Given the description of an element on the screen output the (x, y) to click on. 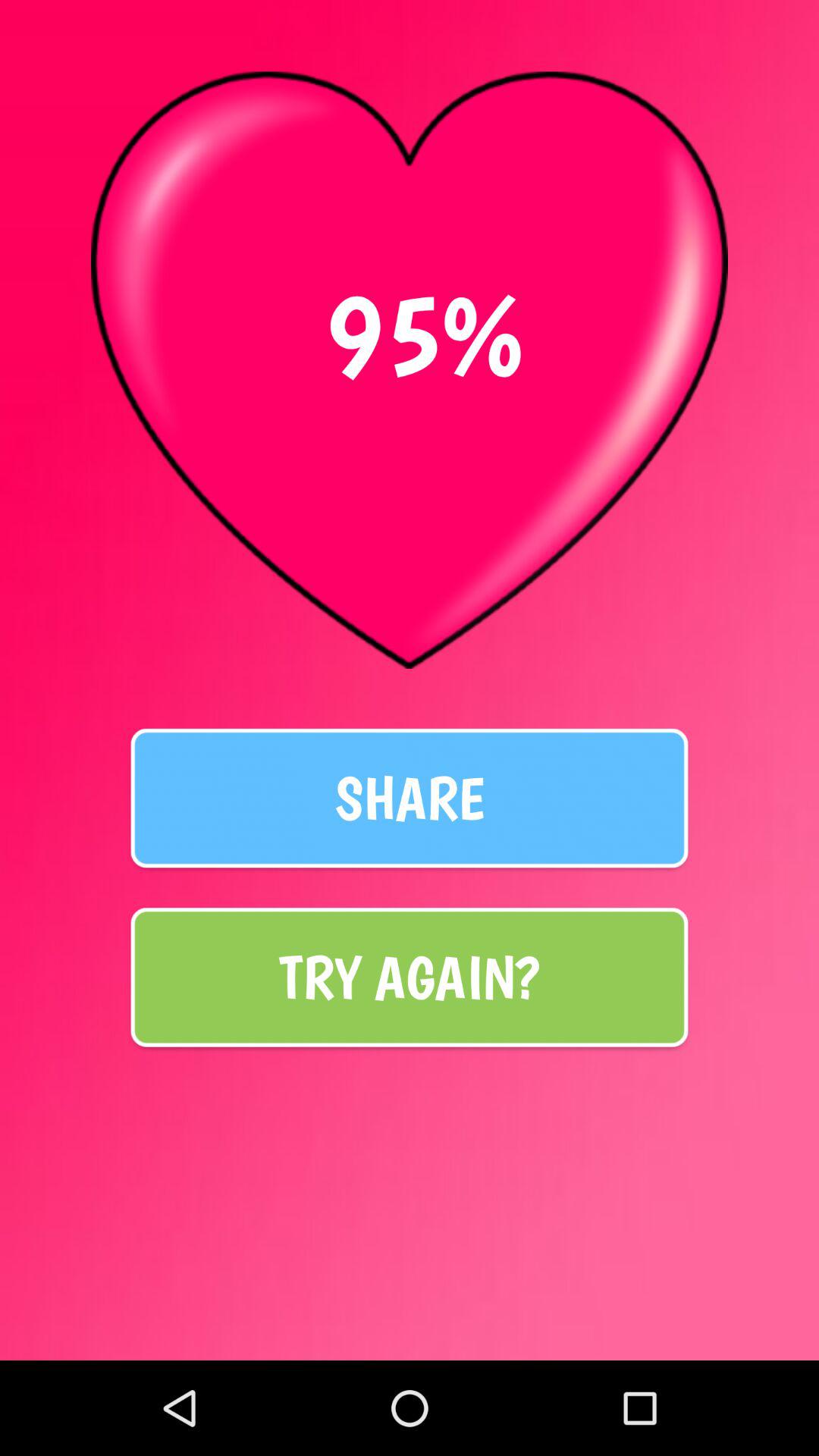
flip until share item (409, 797)
